Given the description of an element on the screen output the (x, y) to click on. 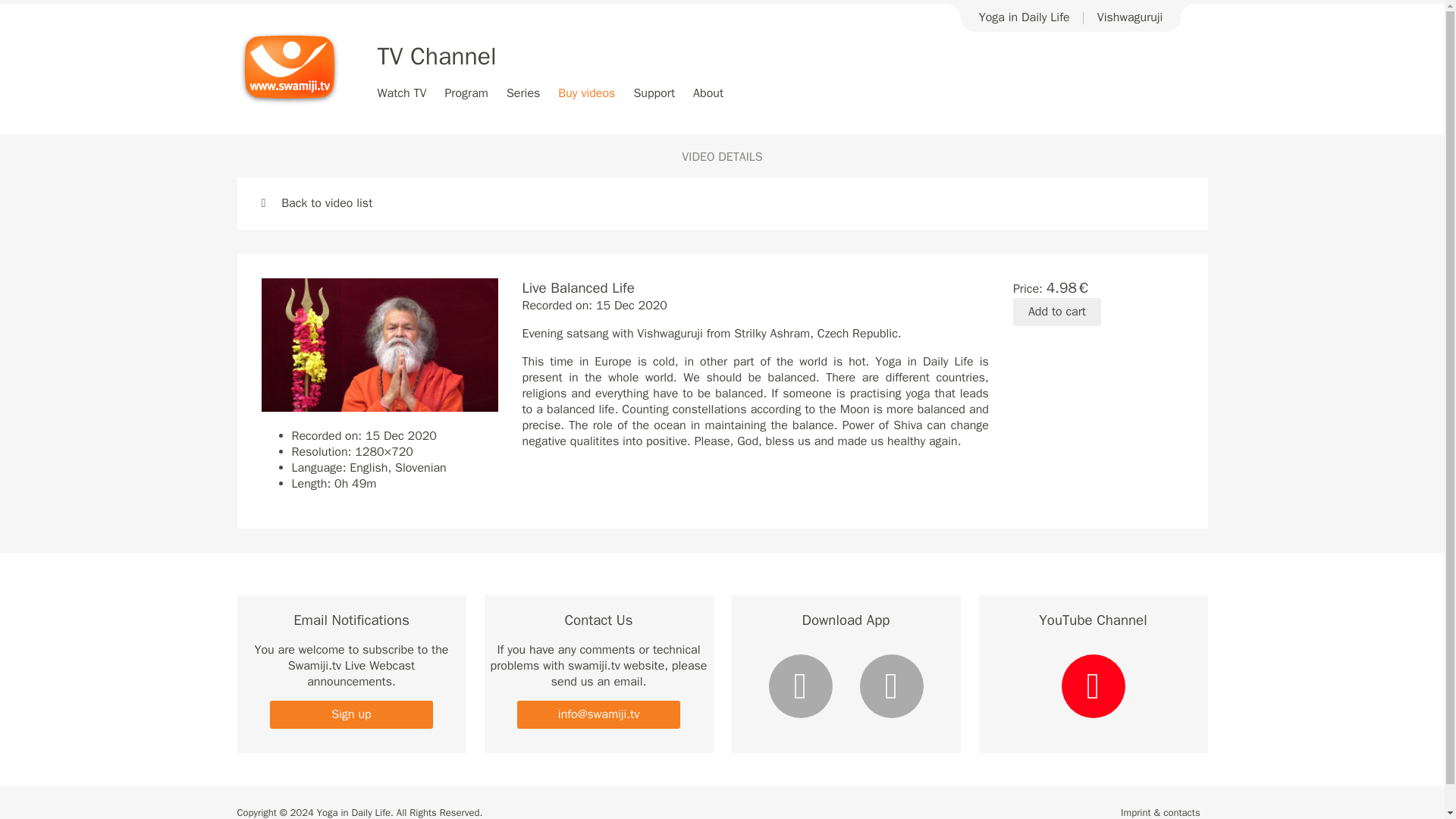
Live Balanced Life (378, 344)
Watch TV (401, 92)
About (708, 92)
Sign up (350, 714)
Program (465, 92)
Yoga in Daily Life (1024, 17)
Series (523, 92)
Buy videos (585, 92)
Support (654, 92)
Back to video list (316, 202)
